Given the description of an element on the screen output the (x, y) to click on. 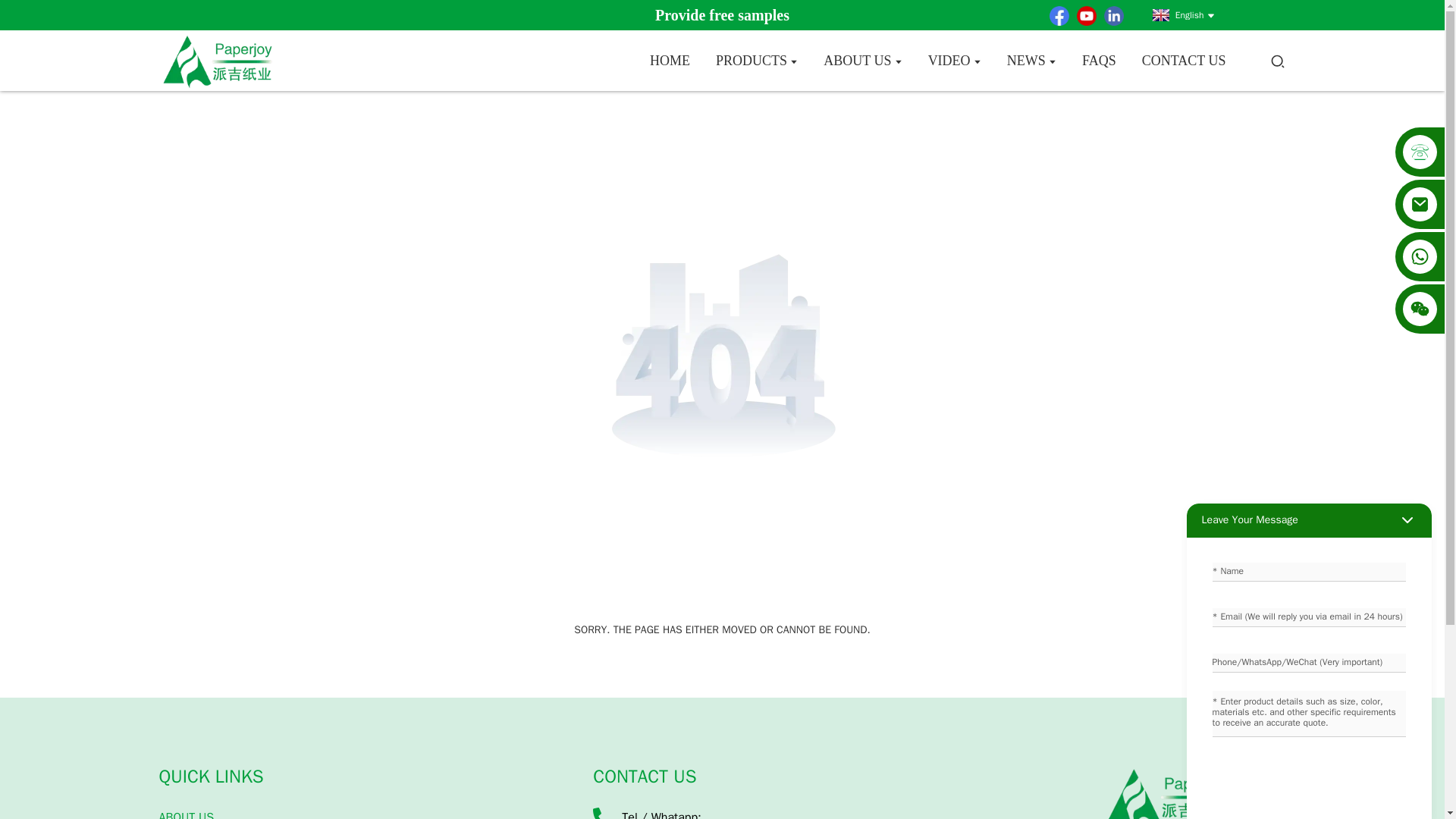
icon (1113, 14)
Provide free samples (722, 15)
icon (1058, 14)
icon (1086, 14)
